Given the description of an element on the screen output the (x, y) to click on. 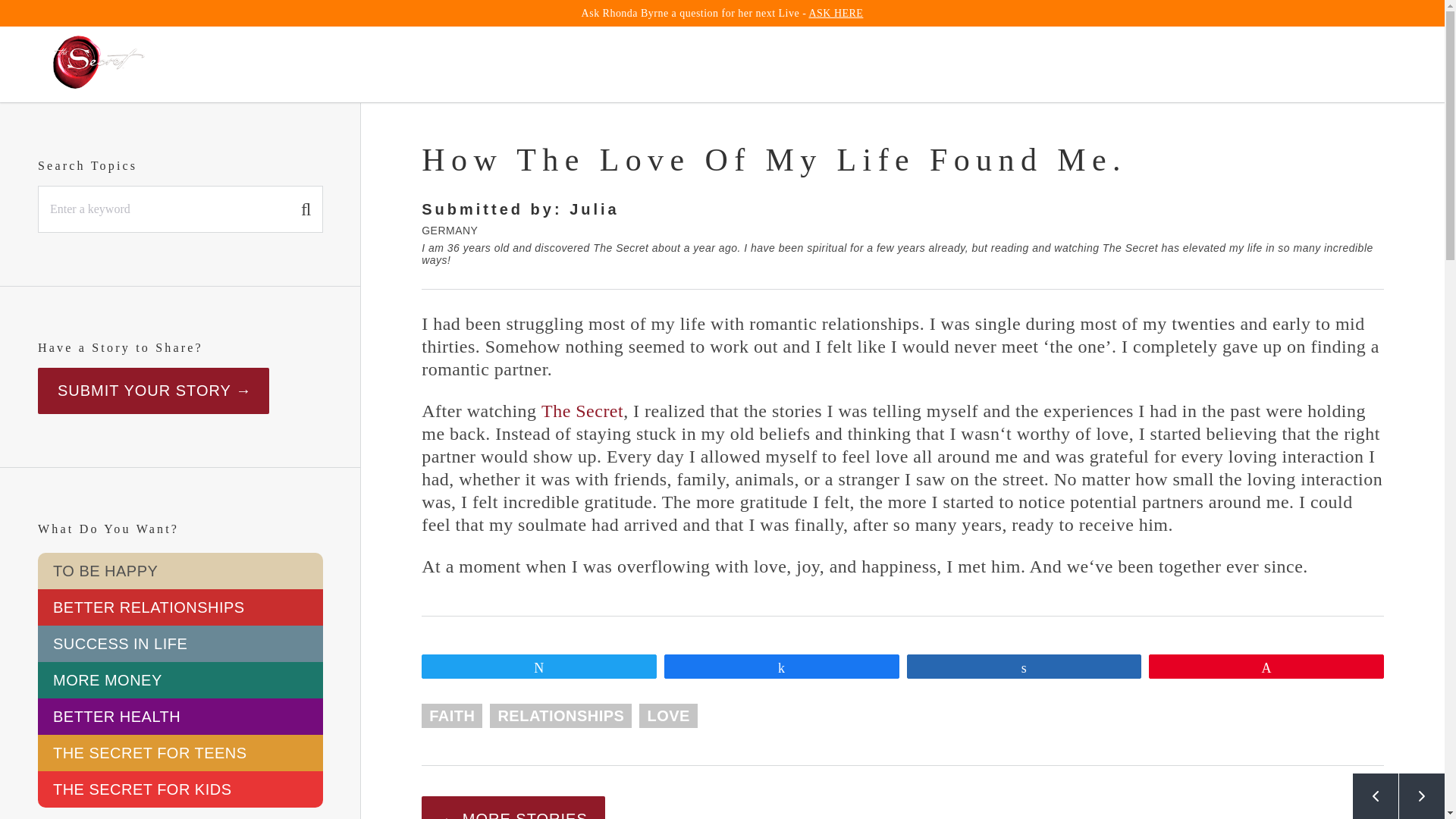
ABOUT (850, 64)
The Official Website of The Secret (98, 64)
RHONDA TV (746, 64)
EXPLORE (631, 64)
Ask Rhonda Byrne a question for her next Live - ASK HERE (721, 12)
PRODUCTS (951, 64)
GIFTS FOR YOU (1163, 64)
